Given the description of an element on the screen output the (x, y) to click on. 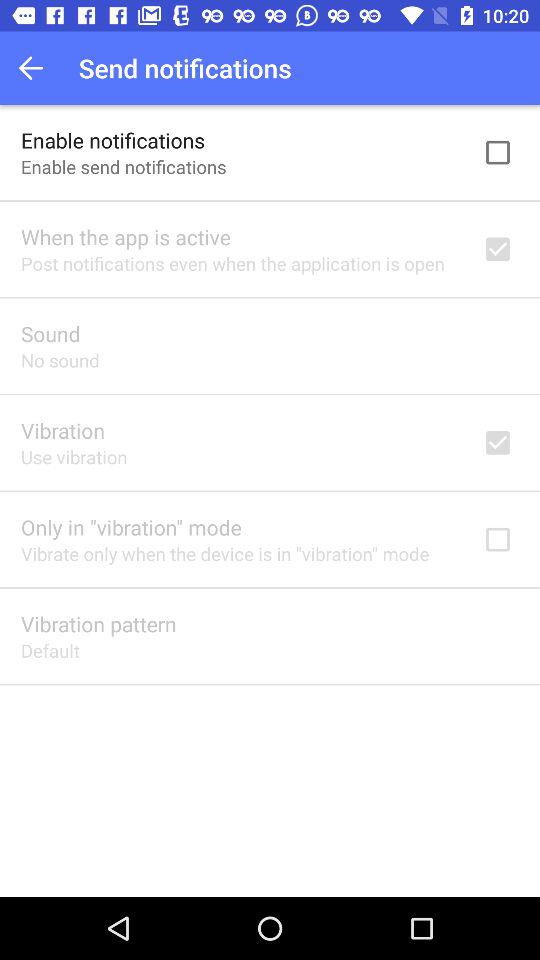
jump to default icon (50, 650)
